Given the description of an element on the screen output the (x, y) to click on. 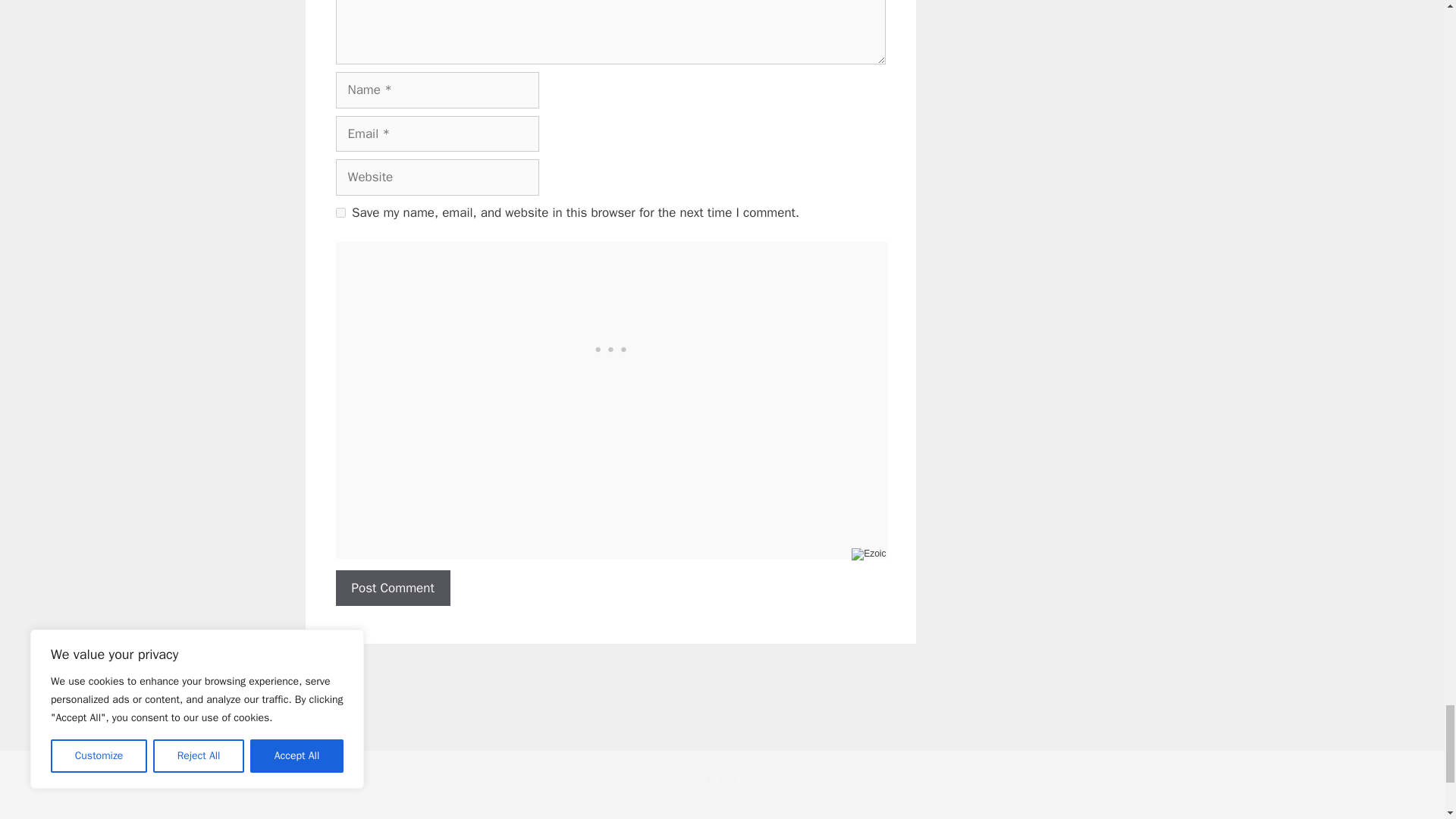
yes (339, 212)
Post Comment (391, 588)
ezoic (868, 554)
